Given the description of an element on the screen output the (x, y) to click on. 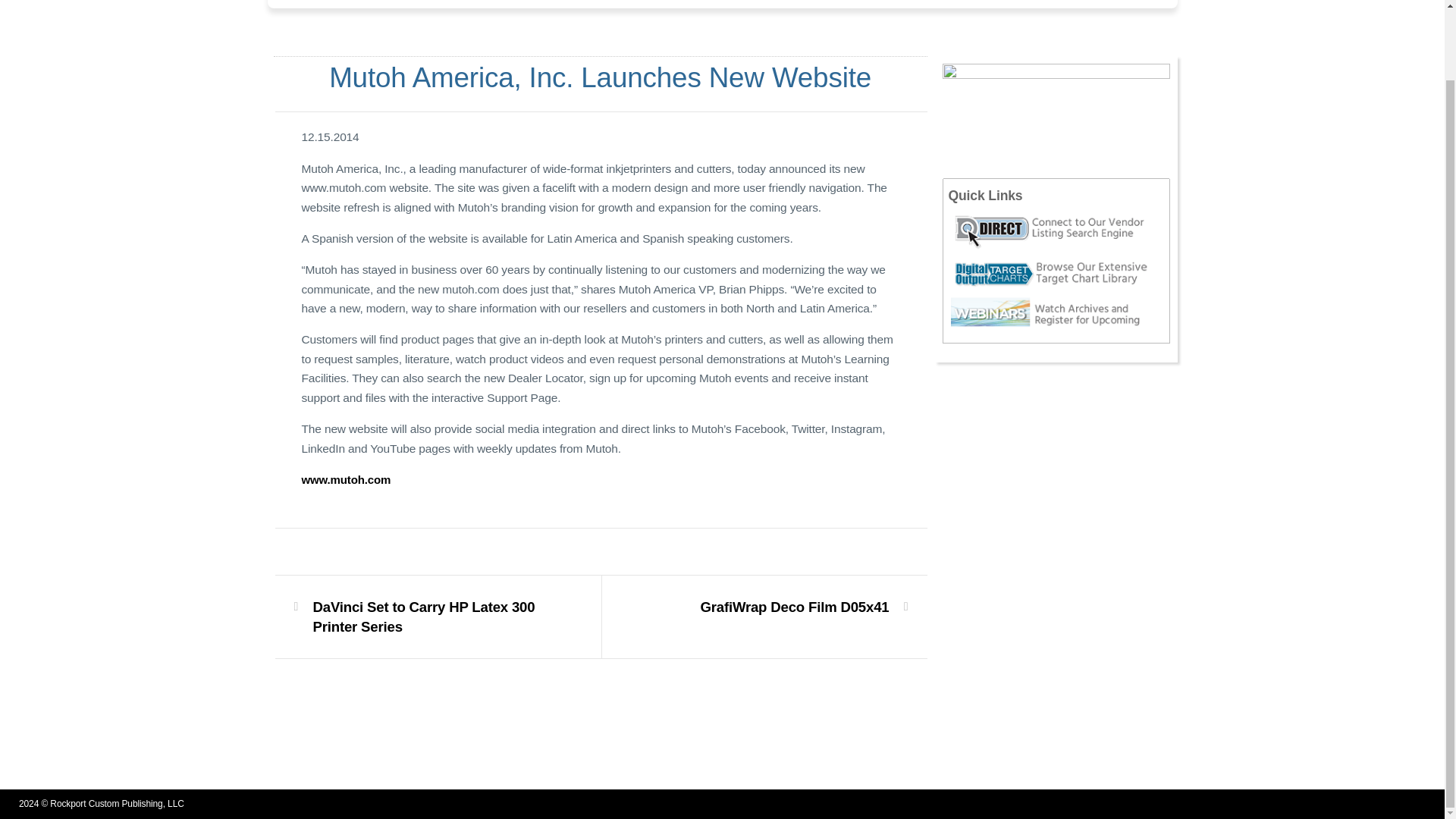
Webinars (1058, 313)
www.mutoh.com (346, 479)
Previous (428, 616)
Target Charts (1058, 273)
Next (794, 607)
GrafiWrap Deco Film D05x41 (794, 607)
DODirect (1058, 231)
DaVinci Set to Carry HP Latex 300 Printer Series (428, 616)
